Given the description of an element on the screen output the (x, y) to click on. 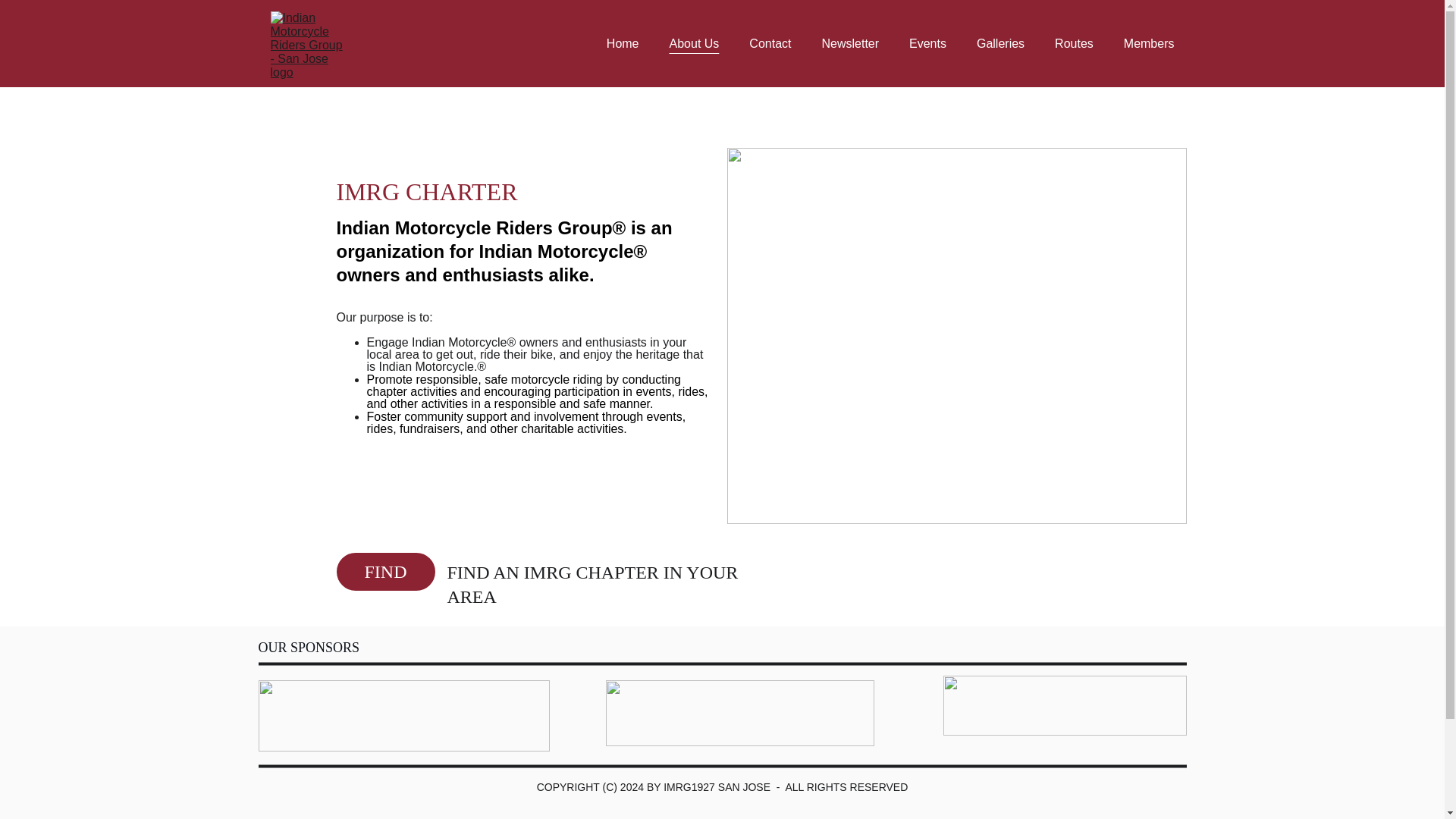
Newsletter (850, 44)
Galleries (1000, 44)
Routes (1073, 44)
Members (1149, 44)
FIND (385, 571)
Events (927, 44)
About Us (694, 44)
Contact (769, 44)
Home (623, 44)
